Given the description of an element on the screen output the (x, y) to click on. 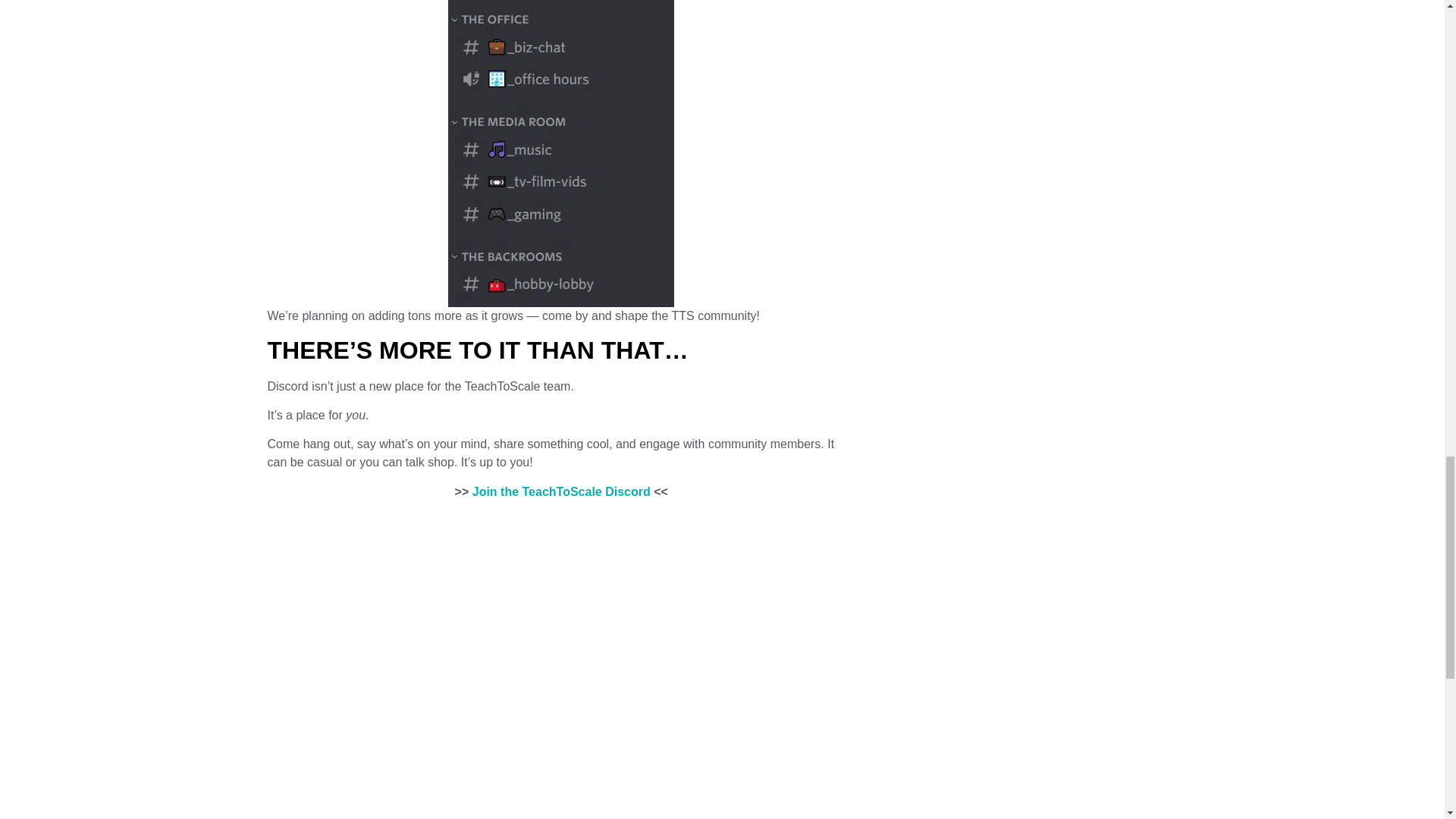
Join the TeachToScale Discord (560, 491)
